Given the description of an element on the screen output the (x, y) to click on. 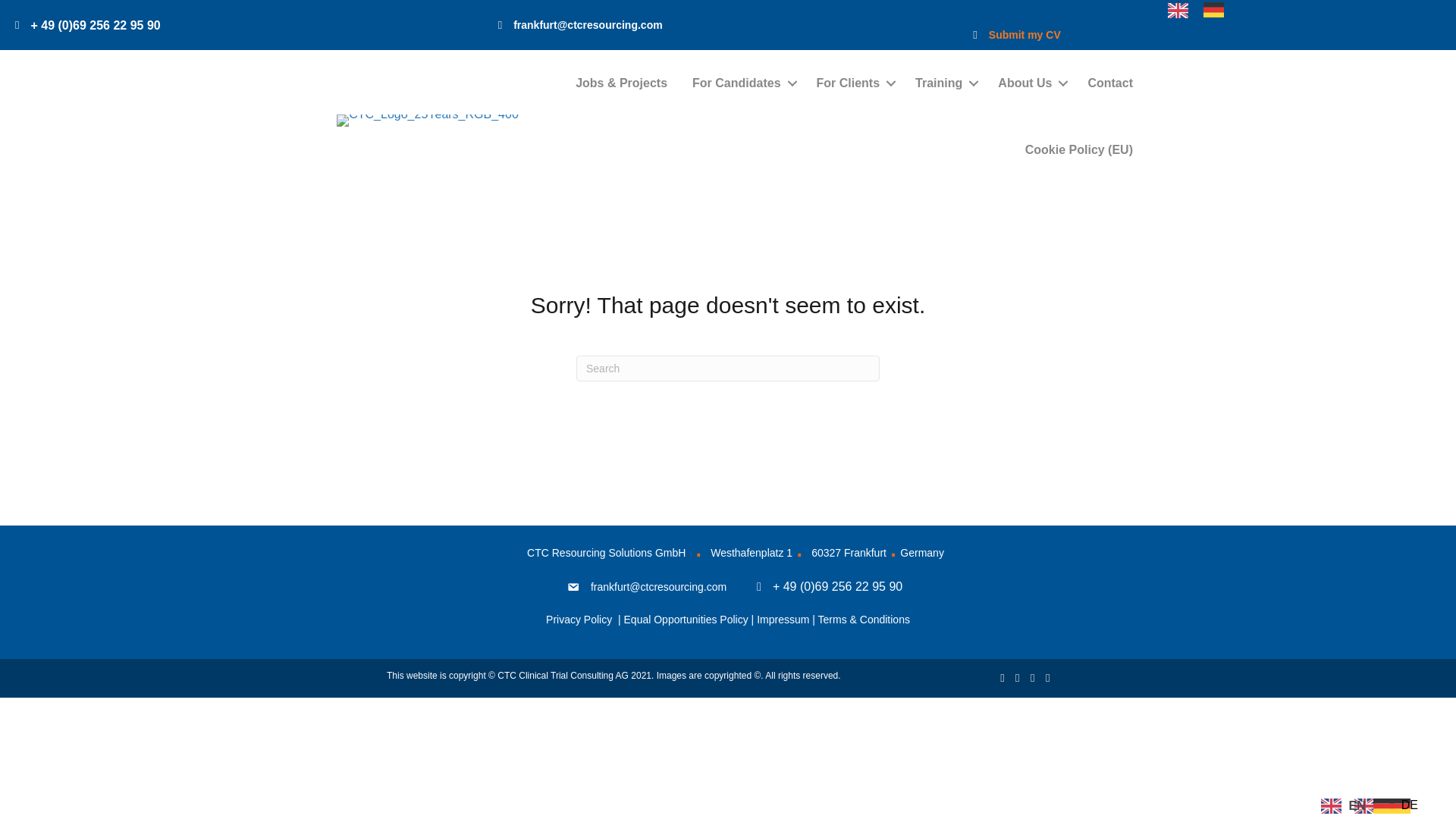
Submit my CV (1024, 35)
Training (943, 83)
Equal Opportunities Policy (686, 619)
About Us (1029, 83)
Contact (1109, 83)
Type and press Enter to search. (727, 368)
For Candidates (741, 83)
Privacy Policy  (580, 619)
Language switcher : German (1217, 8)
For Clients (853, 83)
